Given the description of an element on the screen output the (x, y) to click on. 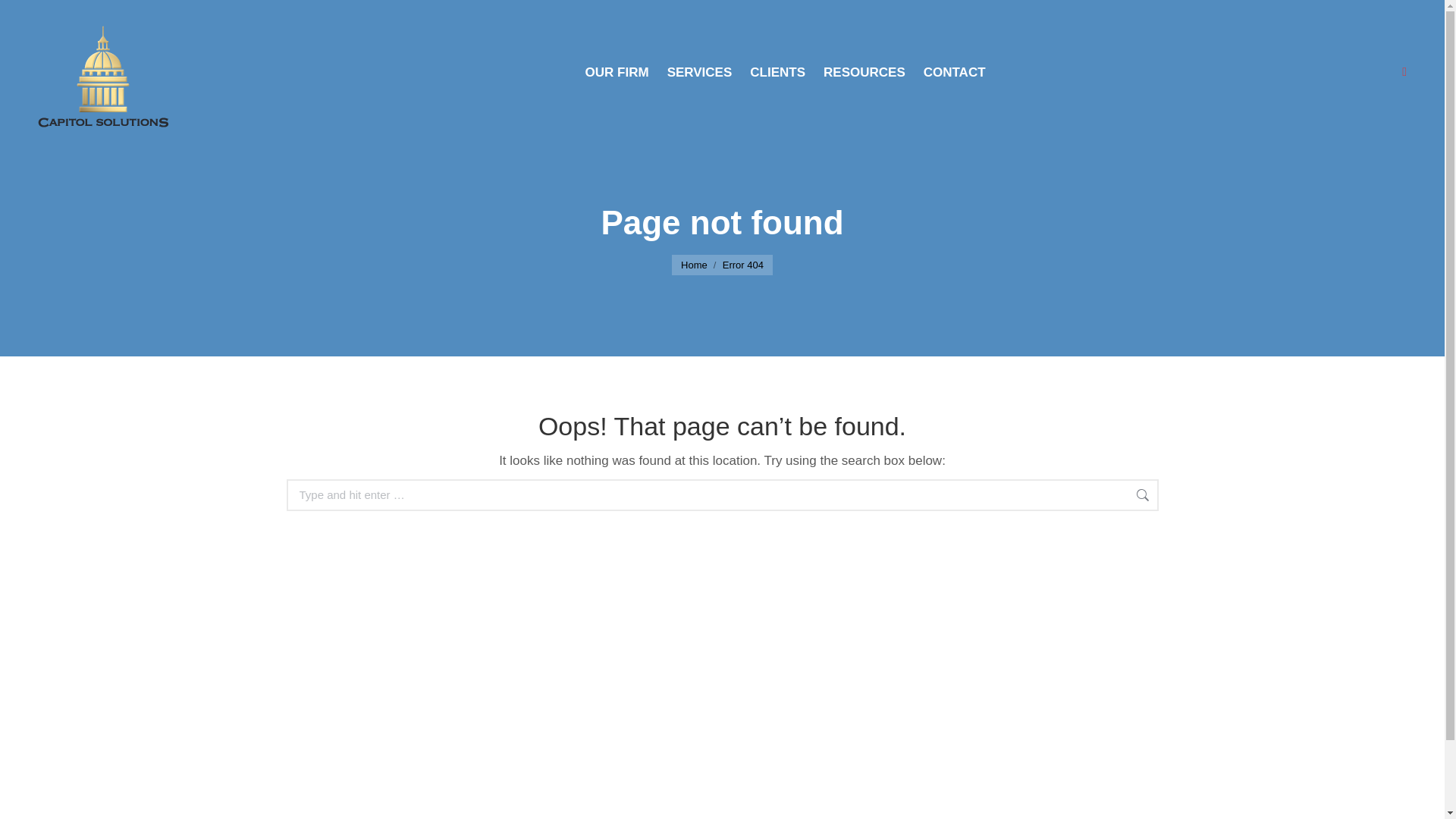
RESOURCES (863, 72)
Go! (24, 17)
CLIENTS (777, 72)
OUR FIRM (616, 72)
Go! (1183, 496)
Home (694, 265)
CONTACT (955, 72)
SERVICES (699, 72)
Go! (1183, 496)
